Given the description of an element on the screen output the (x, y) to click on. 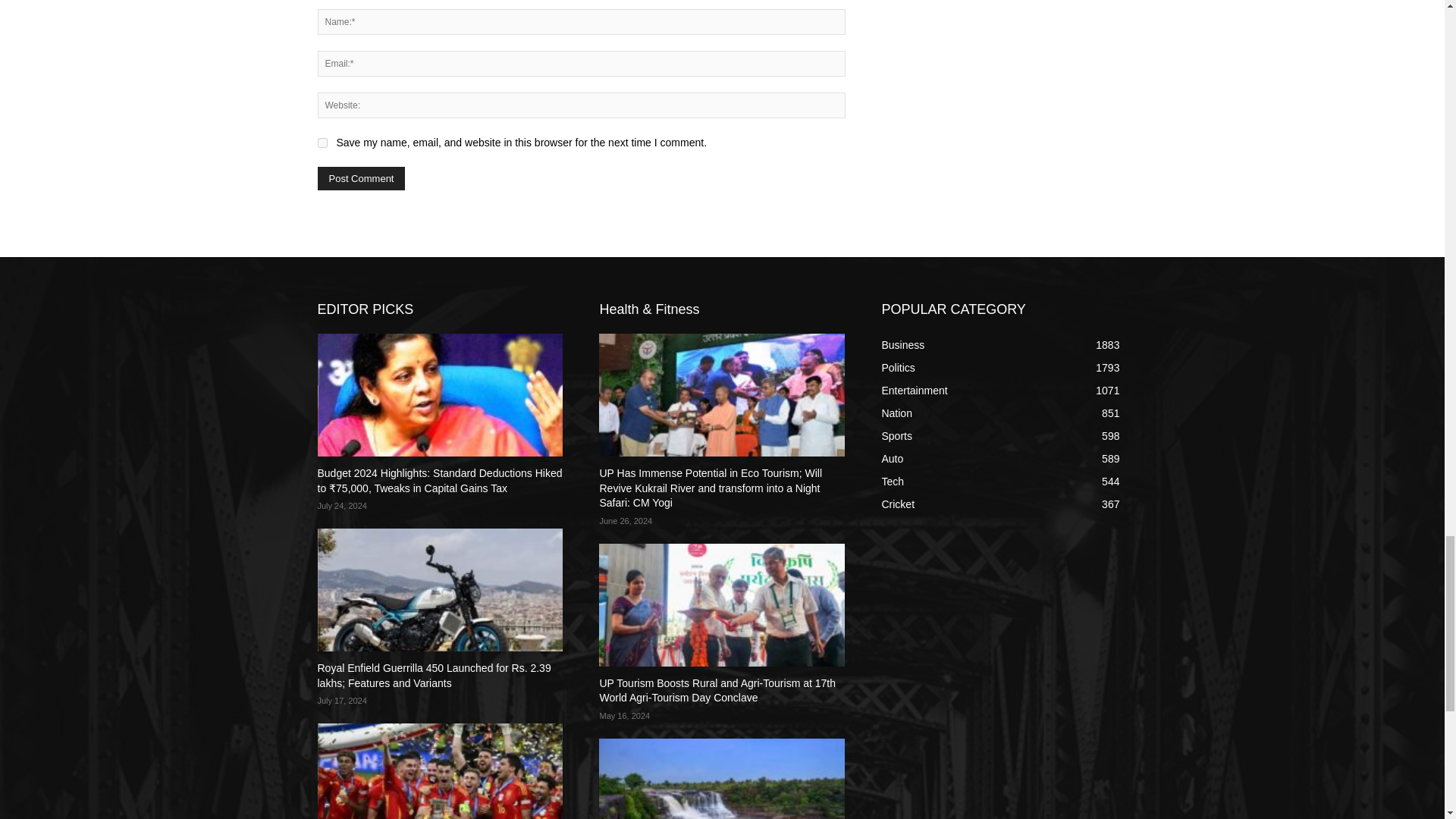
Post Comment (360, 178)
yes (321, 143)
